Given the description of an element on the screen output the (x, y) to click on. 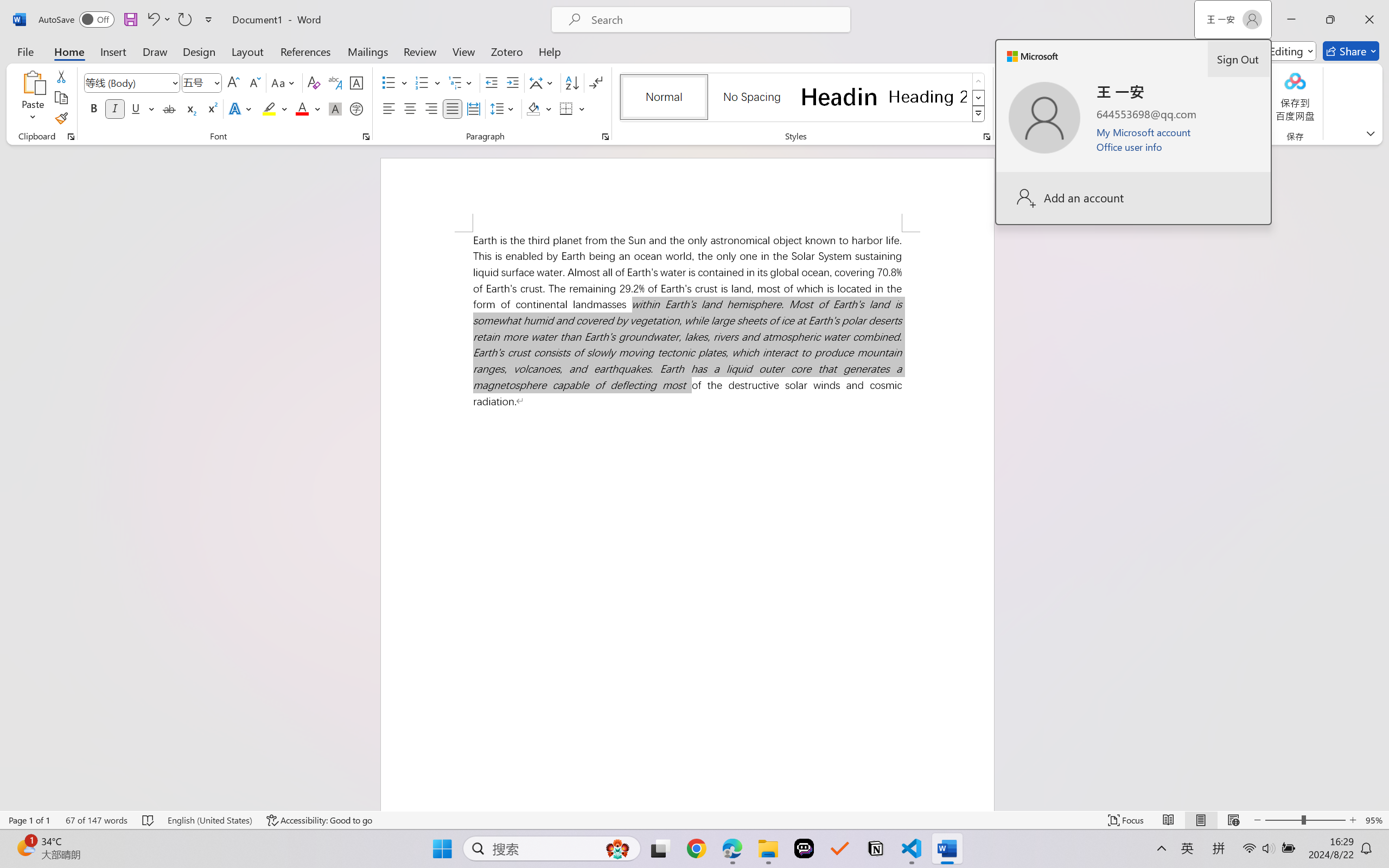
Styles... (986, 136)
Character Shading (334, 108)
Page Number Page 1 of 1 (29, 819)
Class: MsoCommandBar (694, 819)
Poe (804, 848)
Text Highlight Color Yellow (269, 108)
Row up (978, 81)
Multilevel List (461, 82)
